Given the description of an element on the screen output the (x, y) to click on. 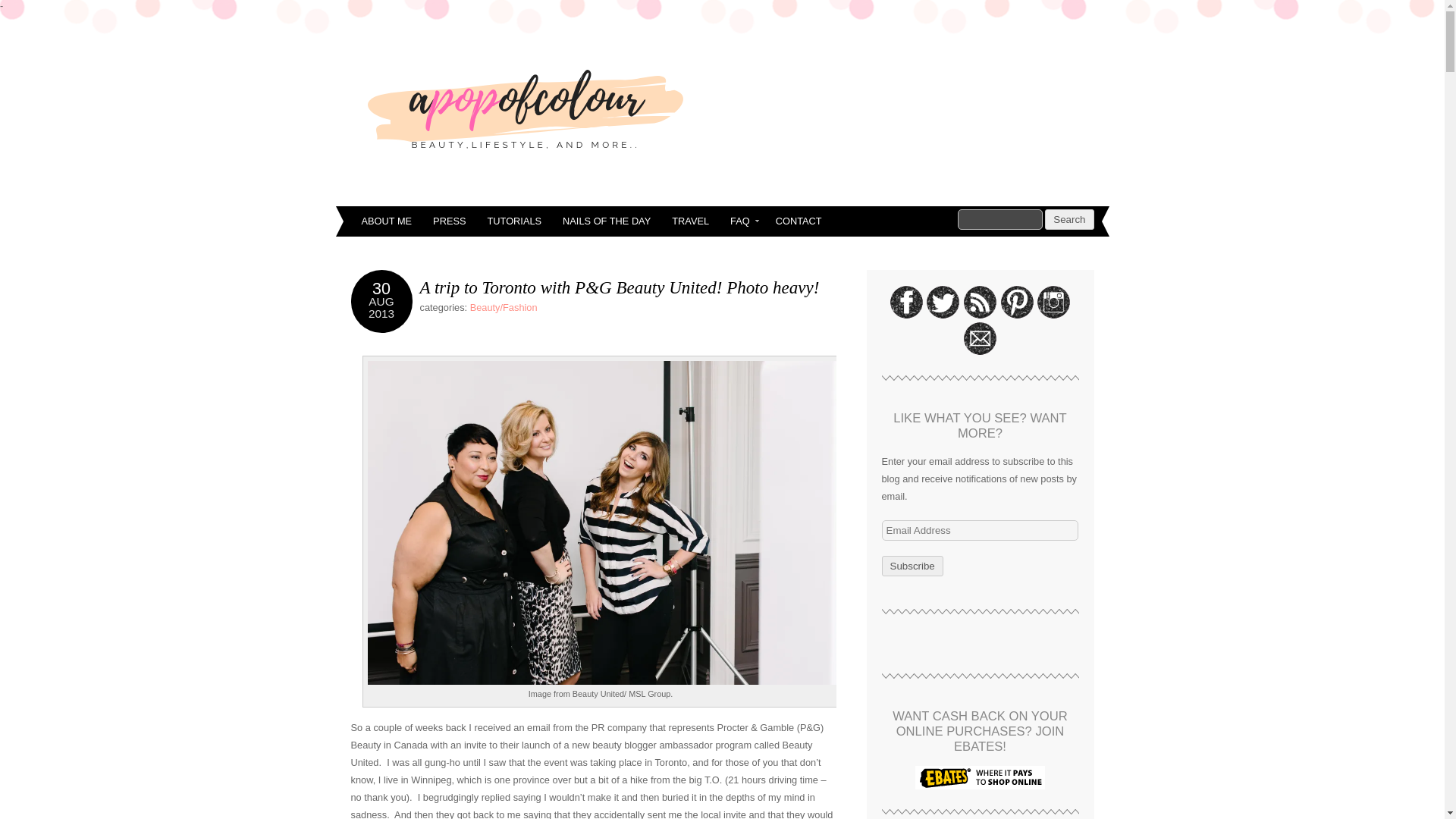
TRAVEL (690, 221)
Search (1000, 219)
Like A Pop of Colour on Facebook (906, 302)
PRESS (449, 221)
Search (1069, 219)
NAILS OF THE DAY (606, 221)
Subscribe (911, 566)
Subscribe to my RSS feed (979, 302)
Pin with me! (1016, 302)
Search (1069, 219)
ABOUT ME (386, 221)
TUTORIALS (513, 221)
A Pop of Colour (524, 107)
Follow me on Instagram (1053, 302)
Follow me on Twitter! (942, 302)
